Given the description of an element on the screen output the (x, y) to click on. 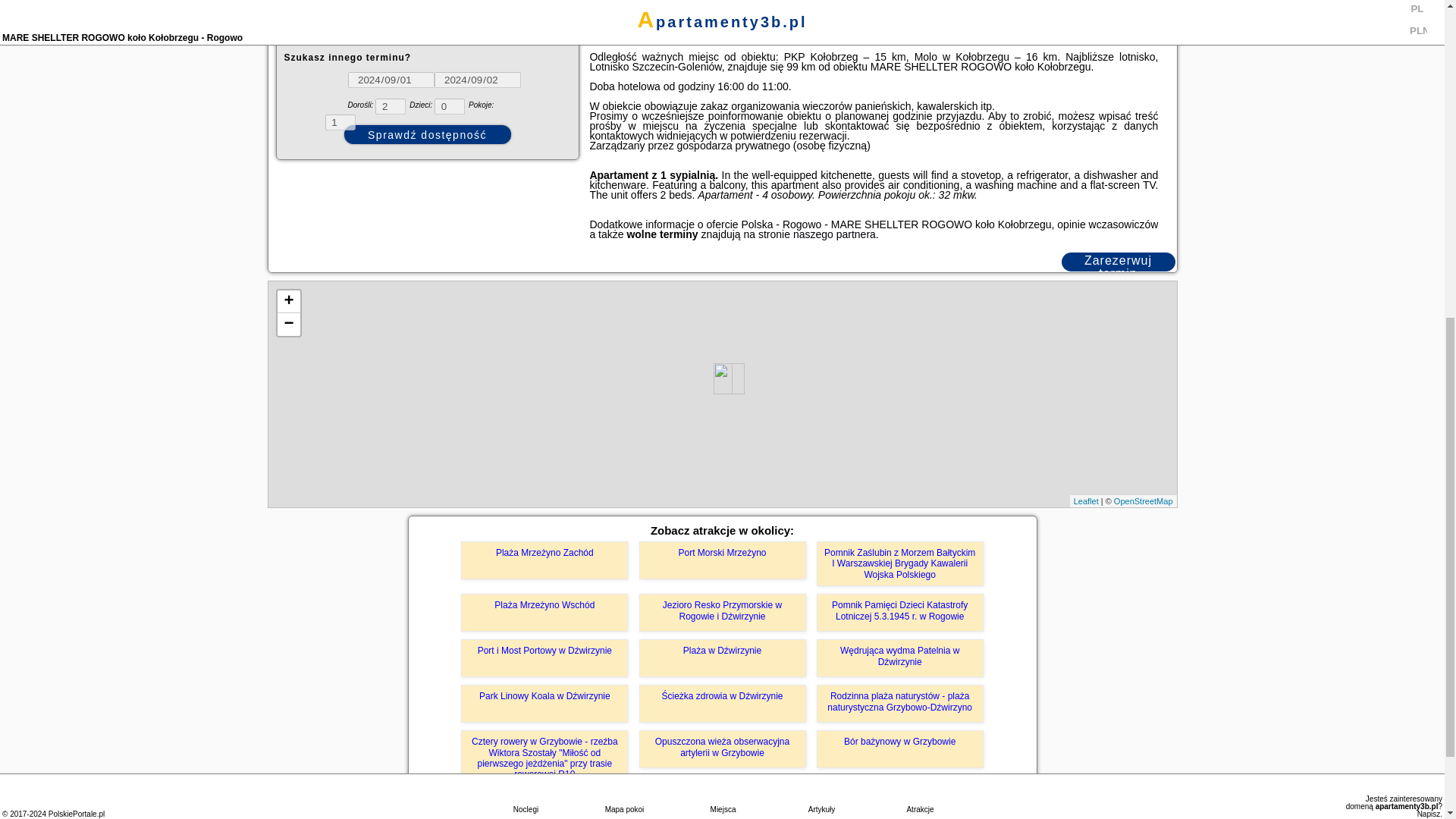
Zarezerwuj termin (1117, 261)
naszego partnera (834, 234)
2 (390, 106)
OpenStreetMap (1143, 500)
0 (448, 106)
2024-09-02 (476, 79)
2024-09-01 (390, 79)
Leaflet (1086, 500)
1 (339, 122)
